Given the description of an element on the screen output the (x, y) to click on. 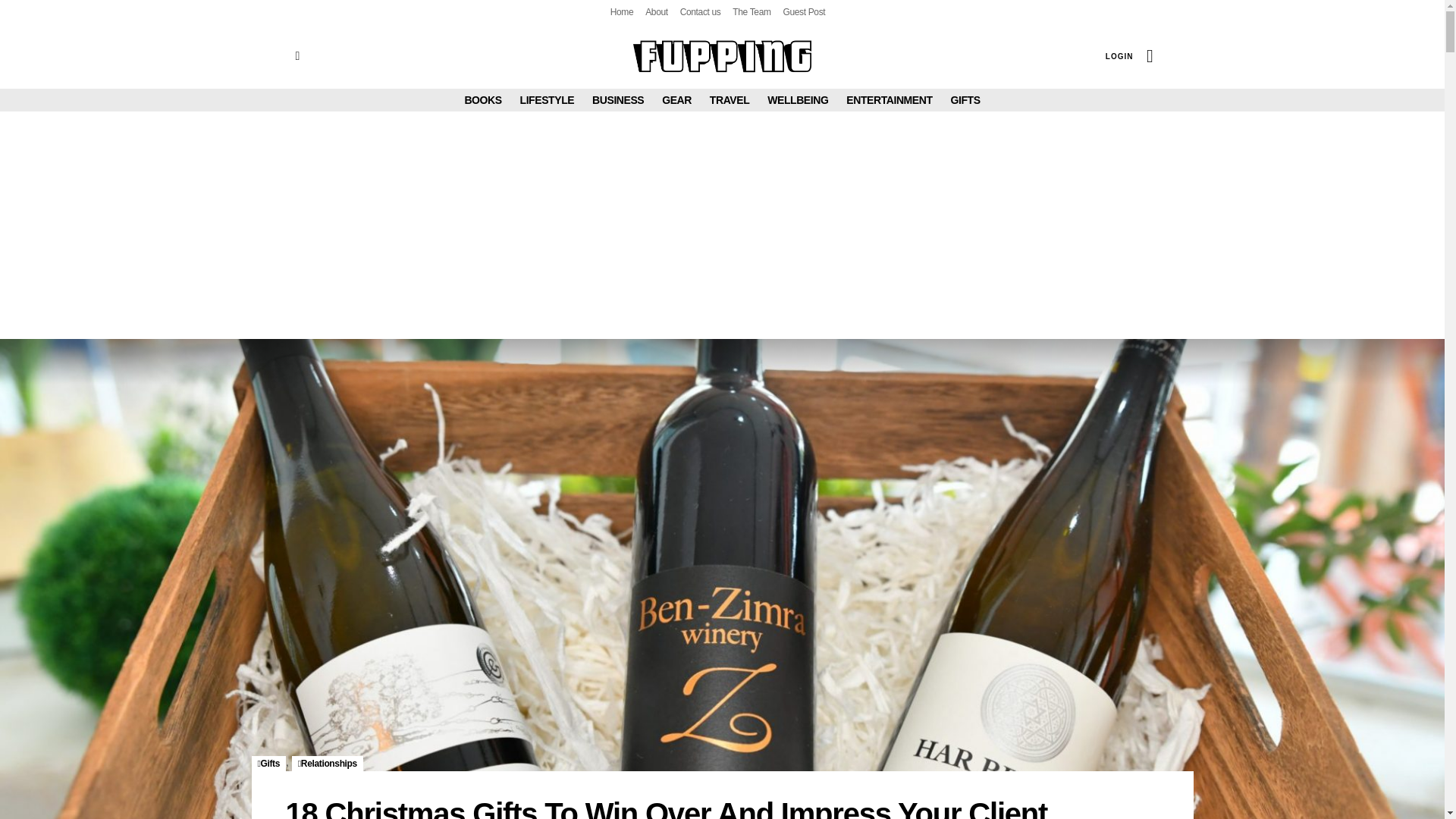
Menu (296, 55)
GIFTS (964, 99)
LIFESTYLE (547, 99)
WELLBEING (797, 99)
Home (621, 12)
The Team (751, 12)
Guest Post (804, 12)
LOGIN (1119, 56)
GEAR (675, 99)
TRAVEL (729, 99)
BUSINESS (617, 99)
BOOKS (482, 99)
Contact us (699, 12)
ENTERTAINMENT (888, 99)
